Given the description of an element on the screen output the (x, y) to click on. 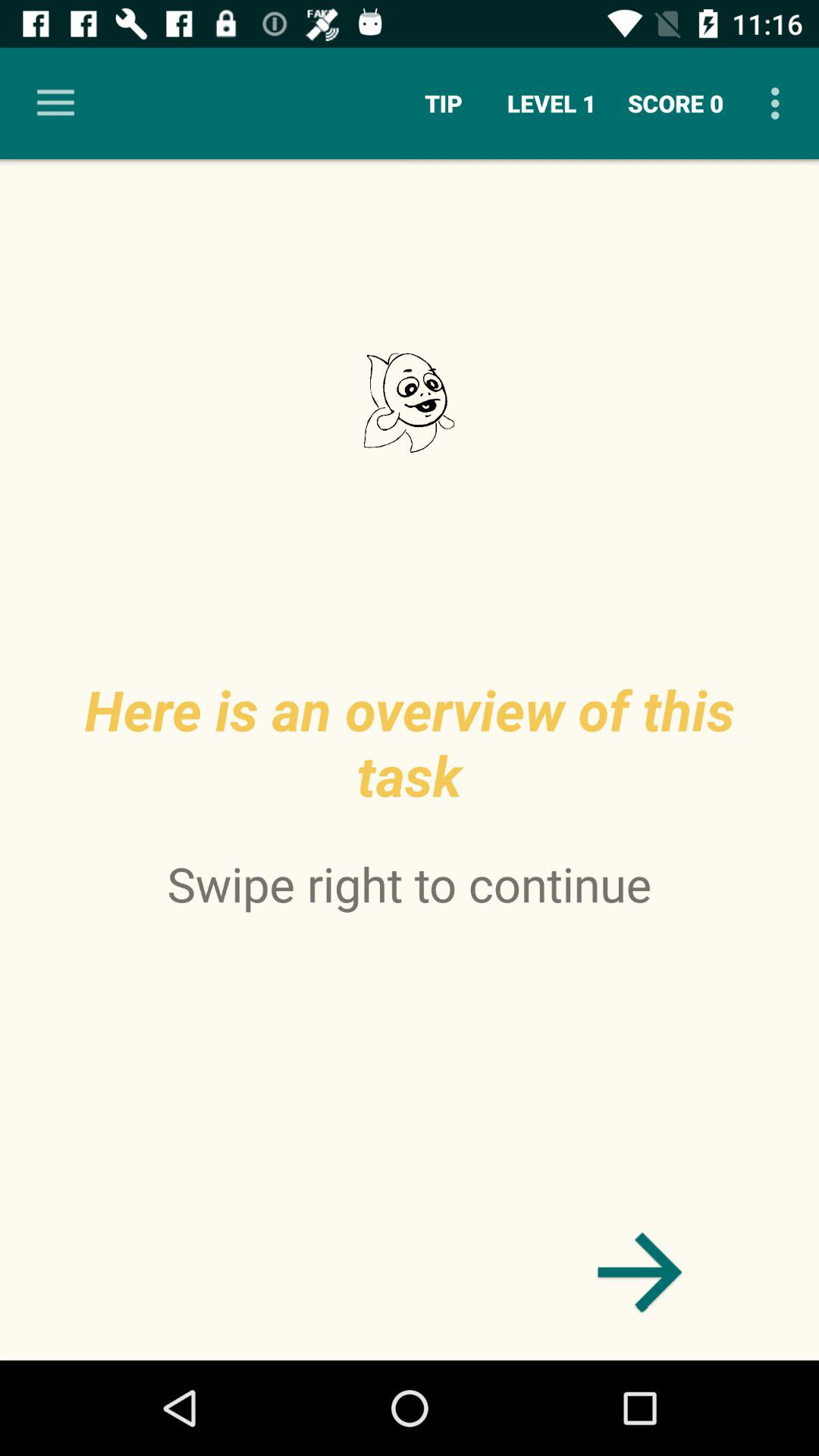
open the item to the left of the score 0 (551, 103)
